Given the description of an element on the screen output the (x, y) to click on. 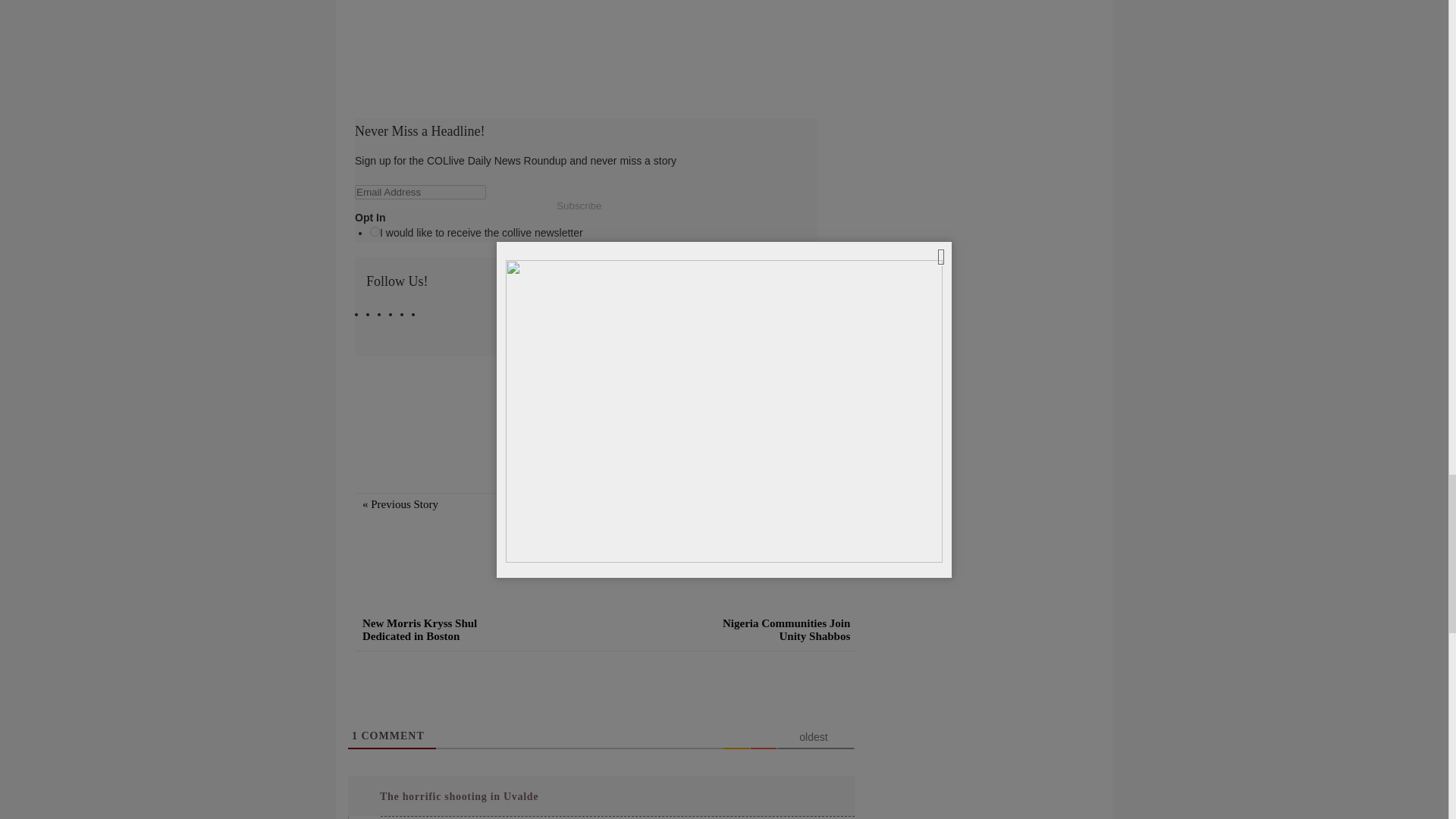
Subscribe (579, 205)
1 (355, 736)
Opt in to daily Newsletter (374, 231)
